Given the description of an element on the screen output the (x, y) to click on. 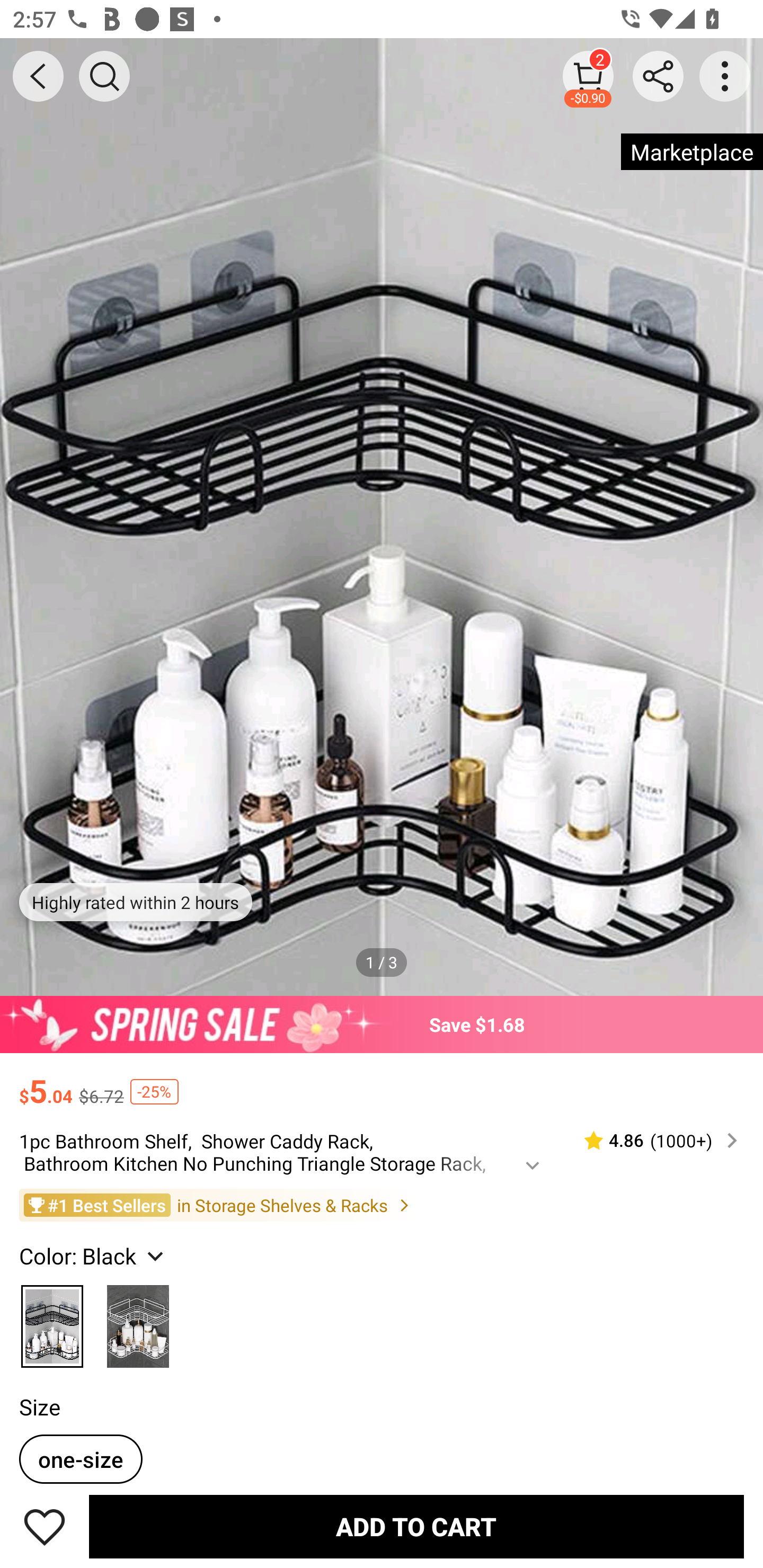
BACK (38, 75)
2 -$0.90 (588, 75)
1 / 3 (381, 962)
Save $1.68 (381, 1024)
$5.04 $6.72 -25% (381, 1082)
4.86 (1000‎+) (653, 1139)
#1 Best Sellers in Storage Shelves & Racks (381, 1204)
Color: Black (93, 1255)
Black (52, 1321)
White (138, 1321)
Size (39, 1407)
one-size one-sizeselected option (80, 1458)
ADD TO CART (416, 1526)
Save (44, 1526)
